Given the description of an element on the screen output the (x, y) to click on. 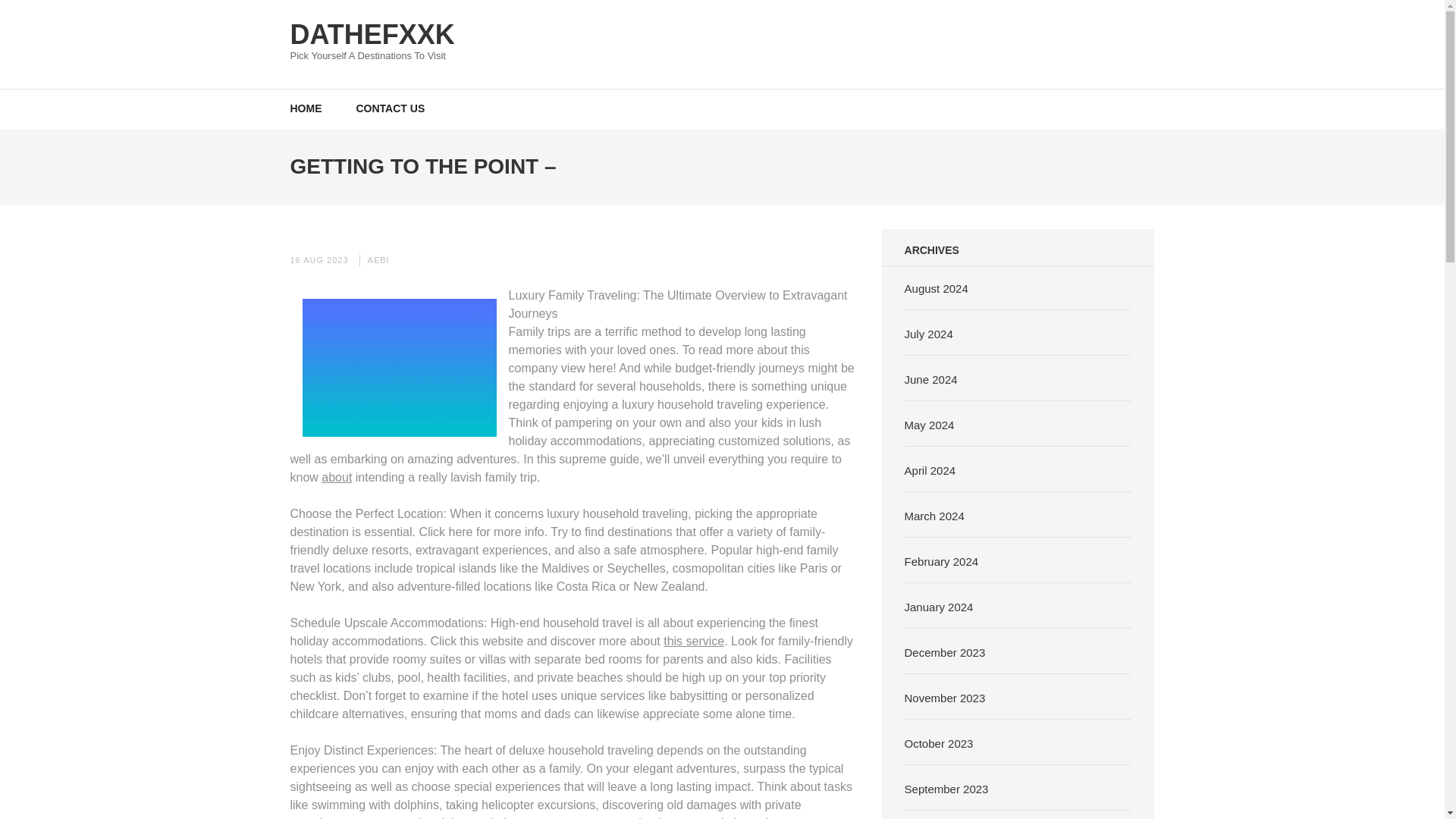
July 2024 (928, 333)
16 AUG 2023 (318, 258)
February 2024 (941, 561)
March 2024 (933, 515)
June 2024 (931, 379)
May 2024 (929, 424)
August 2024 (936, 287)
January 2024 (939, 606)
December 2023 (944, 652)
CONTACT US (390, 108)
about (336, 476)
April 2024 (930, 470)
this service (693, 640)
November 2023 (944, 697)
AEBI (379, 258)
